Given the description of an element on the screen output the (x, y) to click on. 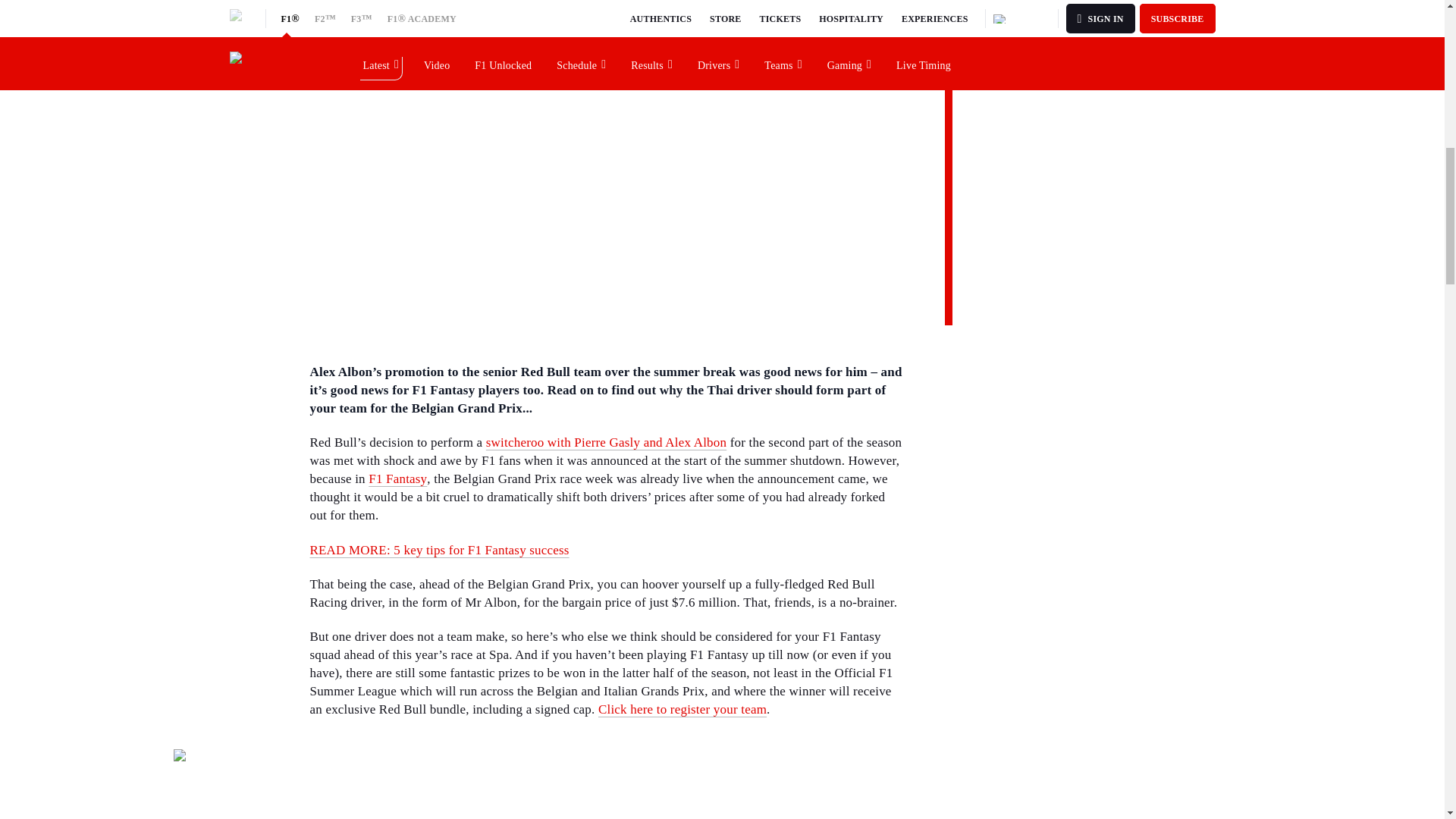
switcheroo with Pierre Gasly and Alex Albon (606, 441)
Discover more news (1018, 21)
READ MORE: 5 key tips for F1 Fantasy success (438, 549)
F1 Fantasy (397, 478)
